Given the description of an element on the screen output the (x, y) to click on. 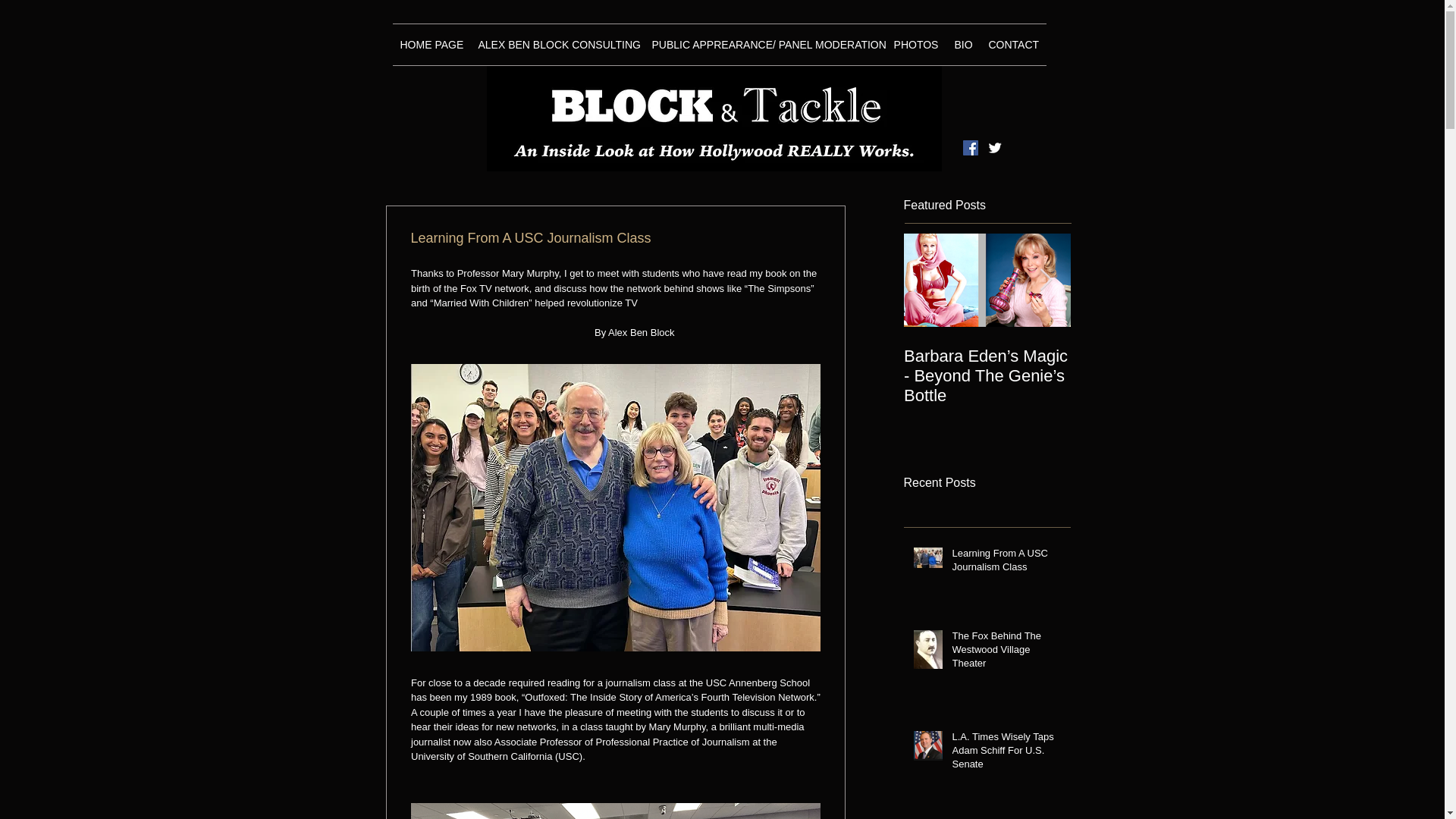
CONTACT (1013, 44)
L.A. Times Wisely Taps Adam Schiff For U.S. Senate (1006, 754)
ALEX BEN BLOCK CONSULTING (556, 44)
The Fox Behind The Westwood Village Theater (1006, 653)
Learning From A USC Journalism Class (1006, 563)
HOME PAGE (431, 44)
PHOTOS (914, 44)
A Donation That Created Safe Spaces For Doctors And Patients (1153, 375)
In The Hands of The Greatest and The Fight Doctor (1321, 375)
